Given the description of an element on the screen output the (x, y) to click on. 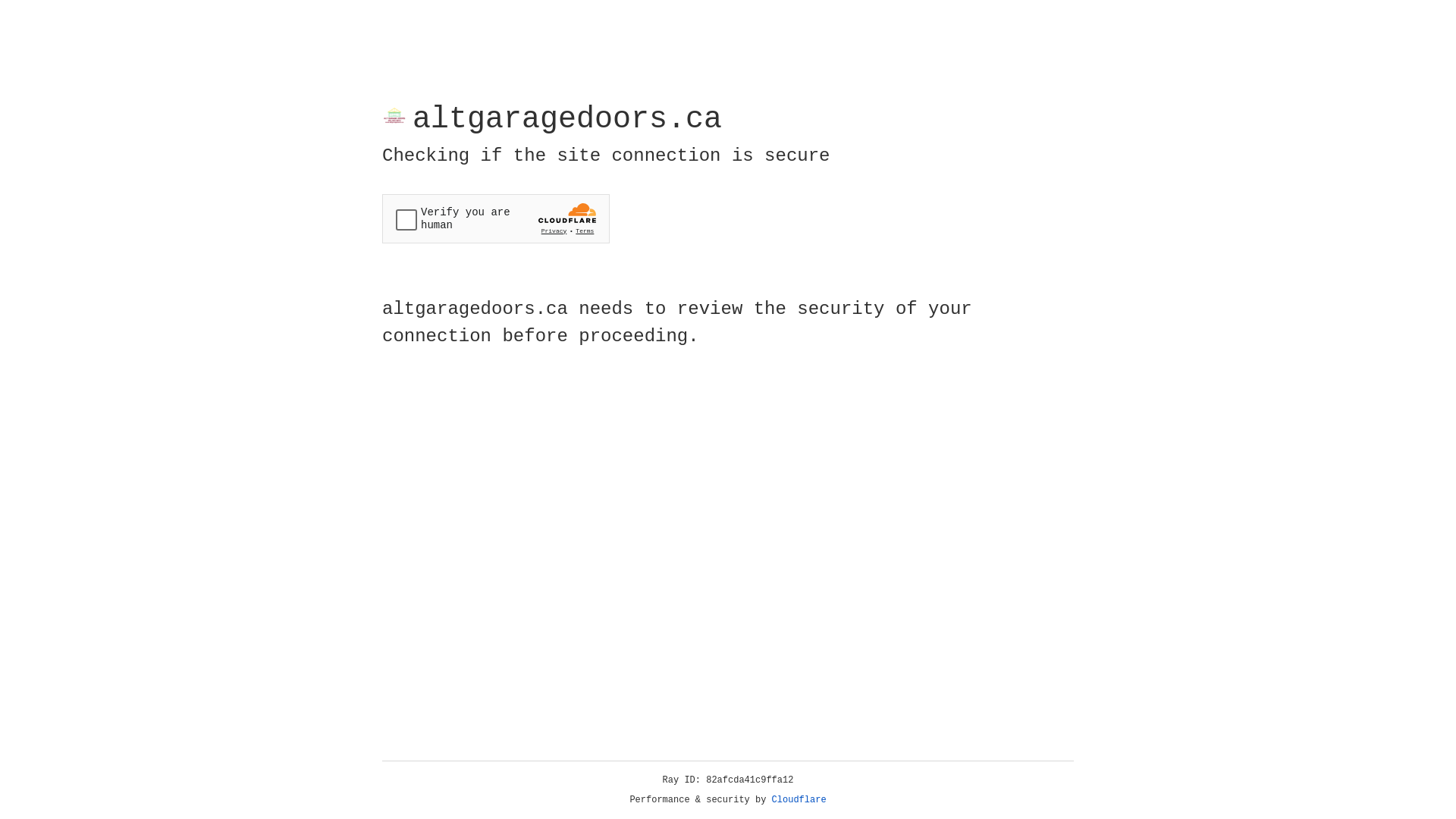
Widget containing a Cloudflare security challenge Element type: hover (495, 218)
Cloudflare Element type: text (798, 799)
